Given the description of an element on the screen output the (x, y) to click on. 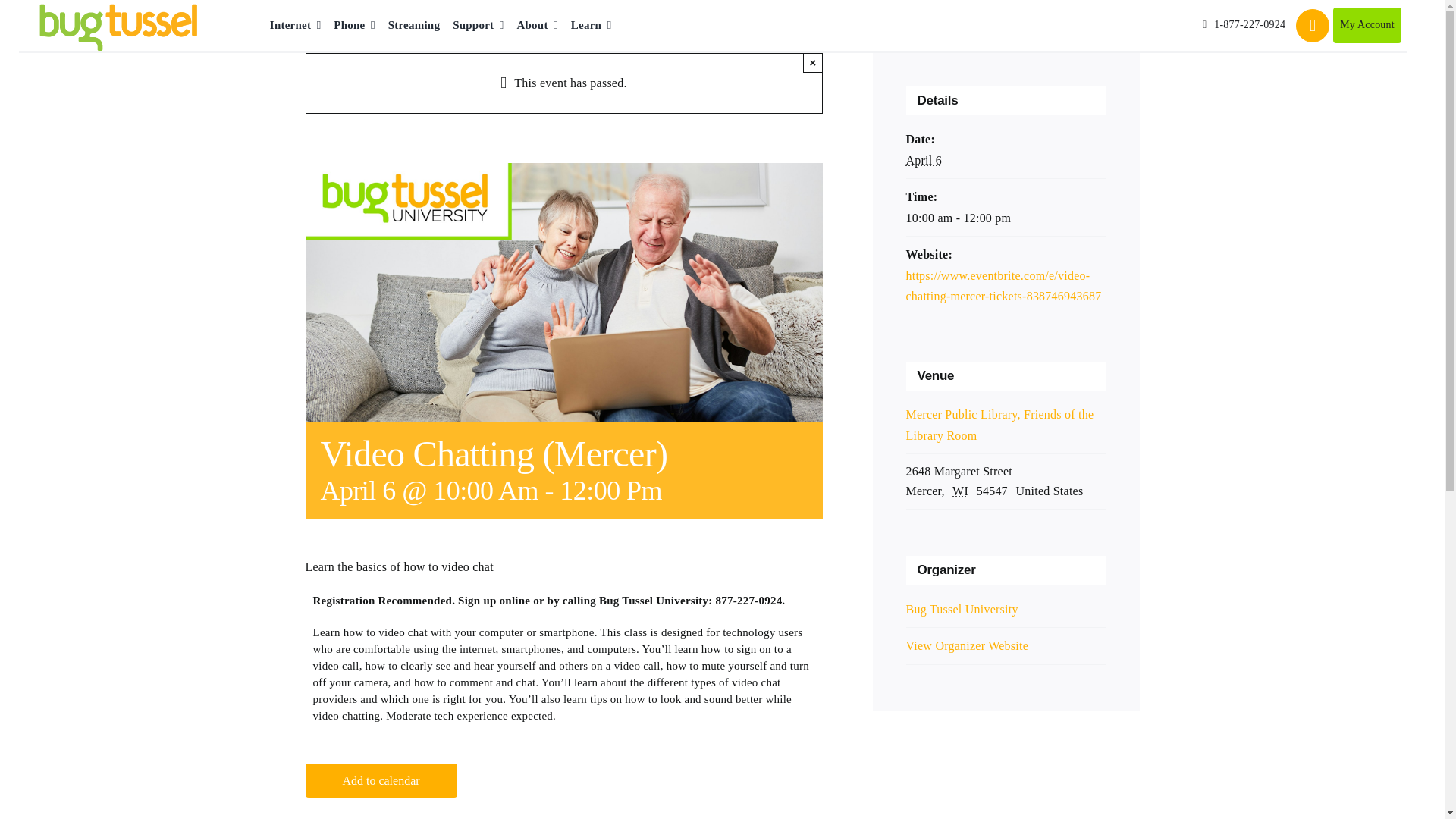
1-877-227-0924 (1243, 25)
2024-04-06 (922, 160)
About (536, 25)
Wisconsin (962, 490)
Support (477, 25)
2024-04-06 (1005, 218)
Internet (295, 25)
My Account (1366, 25)
Streaming (413, 25)
Bug Tussel University (961, 608)
